Given the description of an element on the screen output the (x, y) to click on. 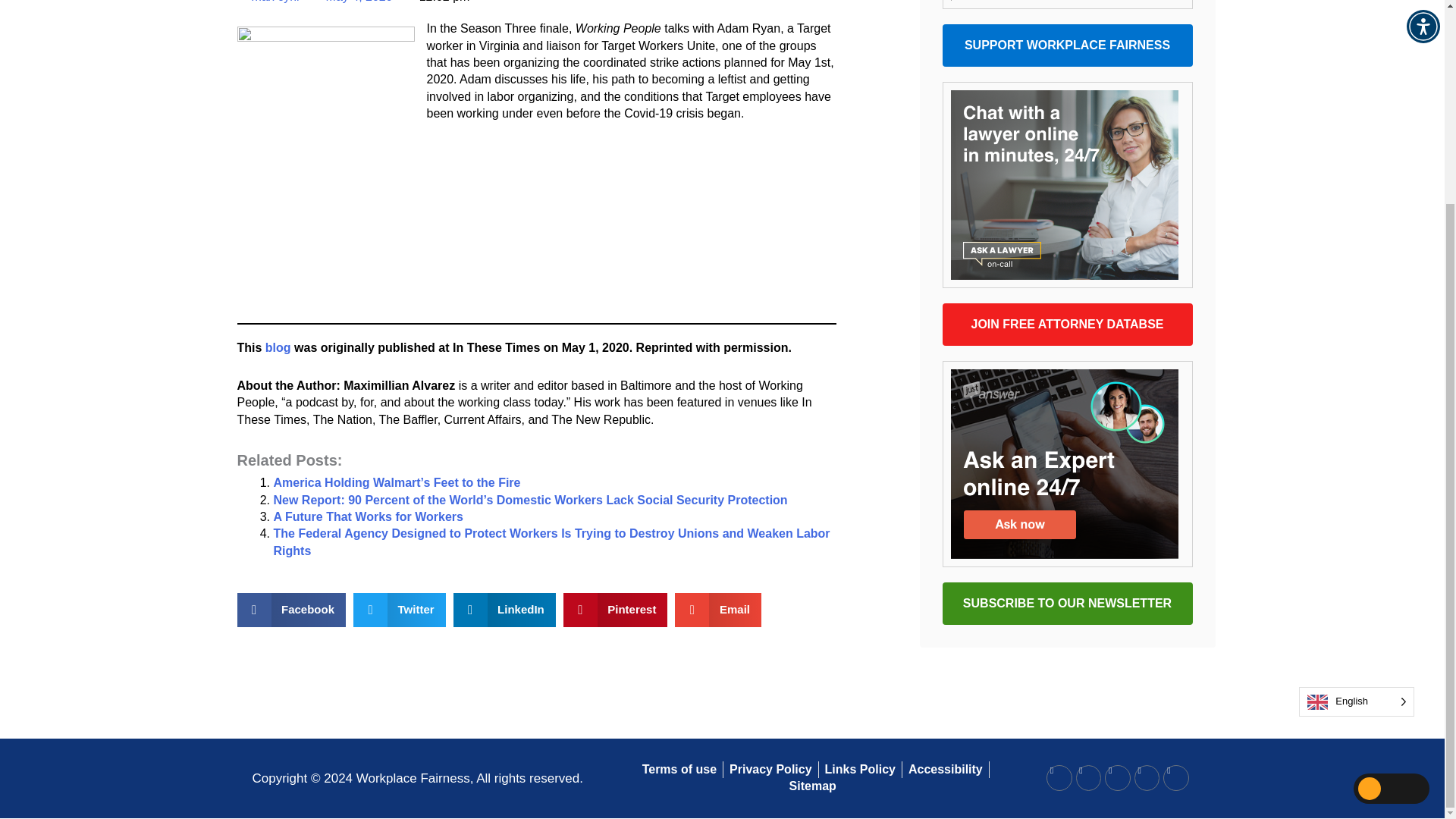
A Future That Works for Workers (368, 516)
app-stitcher (535, 245)
